Given the description of an element on the screen output the (x, y) to click on. 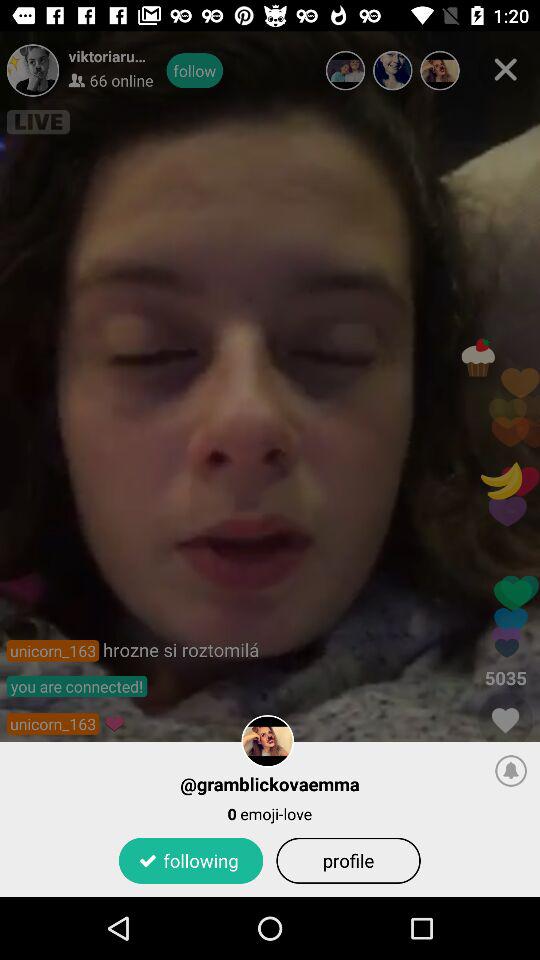
open the item below 0 emoji-love icon (190, 860)
